Given the description of an element on the screen output the (x, y) to click on. 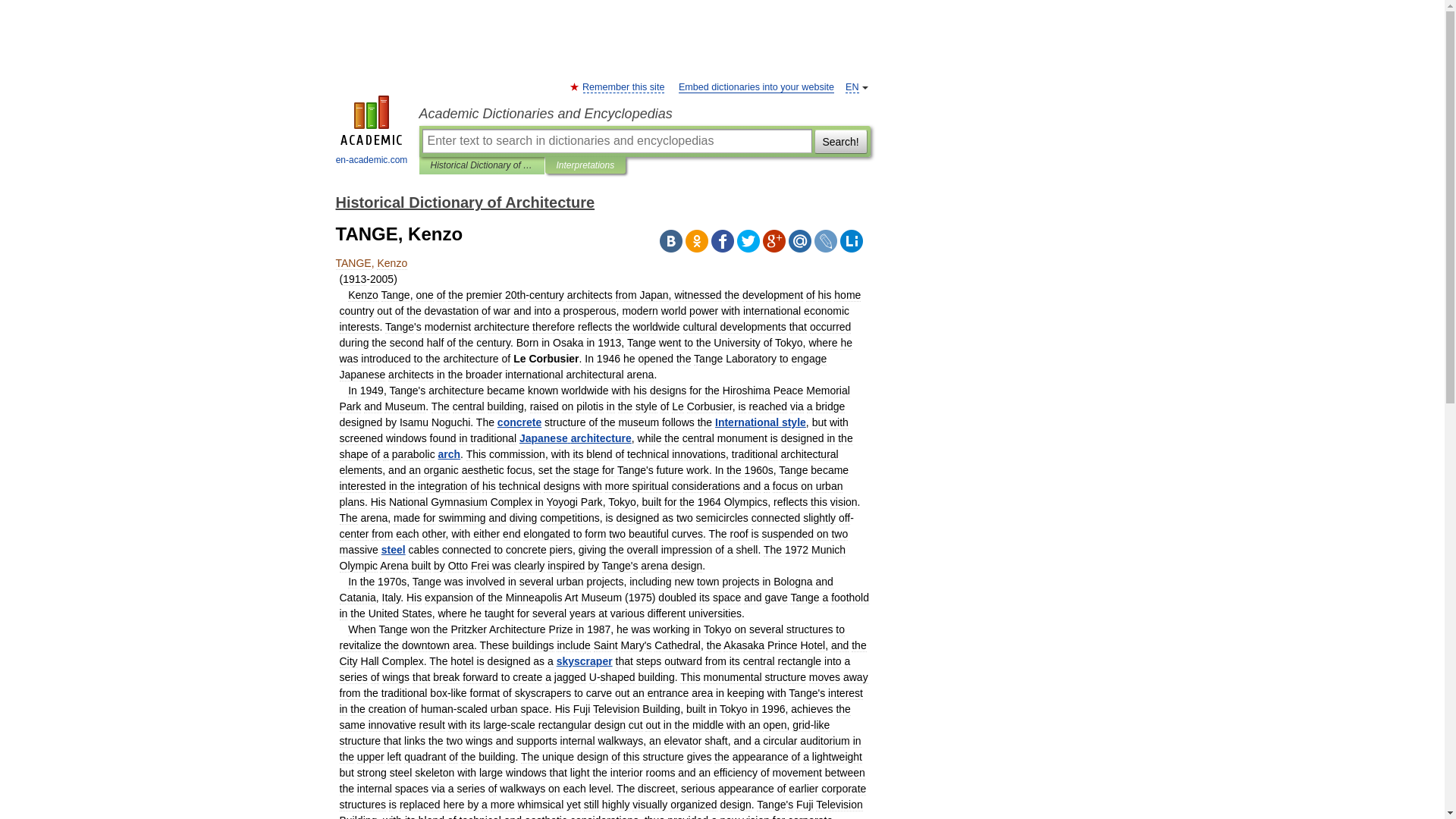
arch (449, 453)
Historical Dictionary of Architecture (481, 165)
Remember this site (623, 87)
en-academic.com (371, 131)
Enter text to search in dictionaries and encyclopedias (616, 140)
Interpretations (585, 165)
concrete (519, 422)
steel (393, 549)
International style (760, 422)
Embed dictionaries into your website (756, 87)
